Given the description of an element on the screen output the (x, y) to click on. 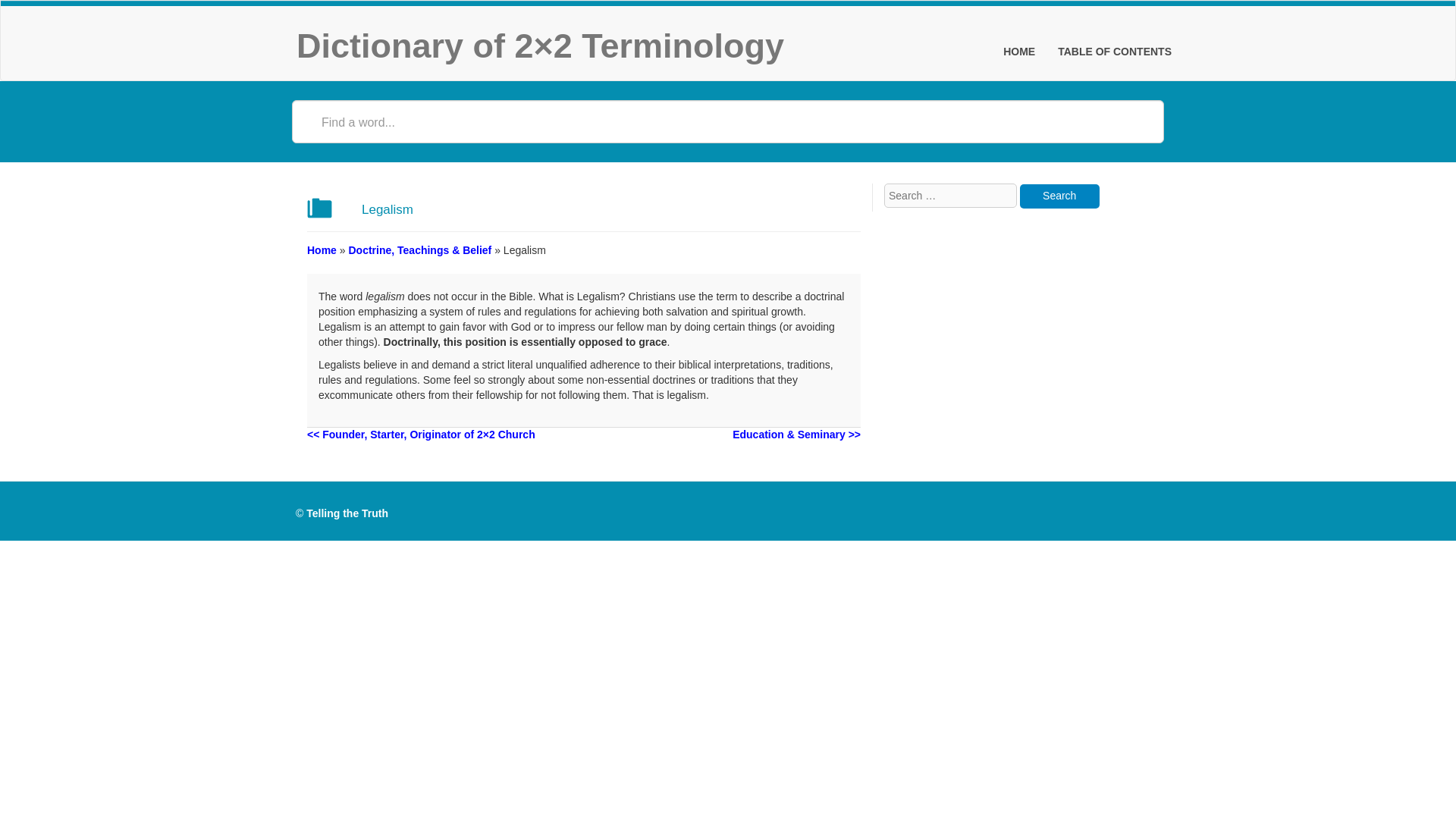
Search (1059, 196)
Search (1059, 196)
Search (1059, 196)
Home (321, 250)
TABLE OF CONTENTS (1114, 51)
Telling the Truth (346, 512)
HOME (1018, 51)
